Given the description of an element on the screen output the (x, y) to click on. 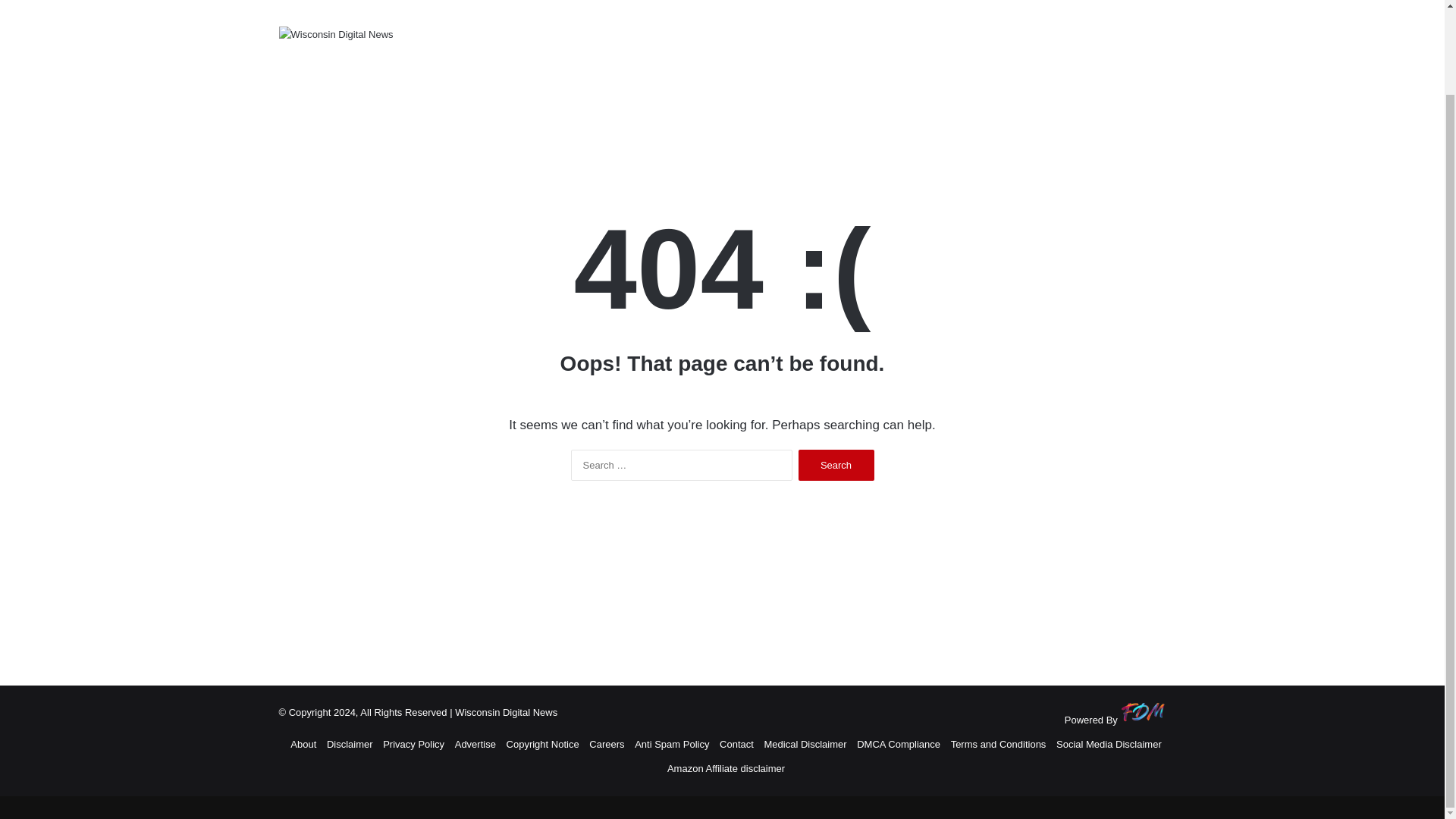
Search (835, 464)
Search (835, 464)
Wisconsin Digital News (336, 33)
